Given the description of an element on the screen output the (x, y) to click on. 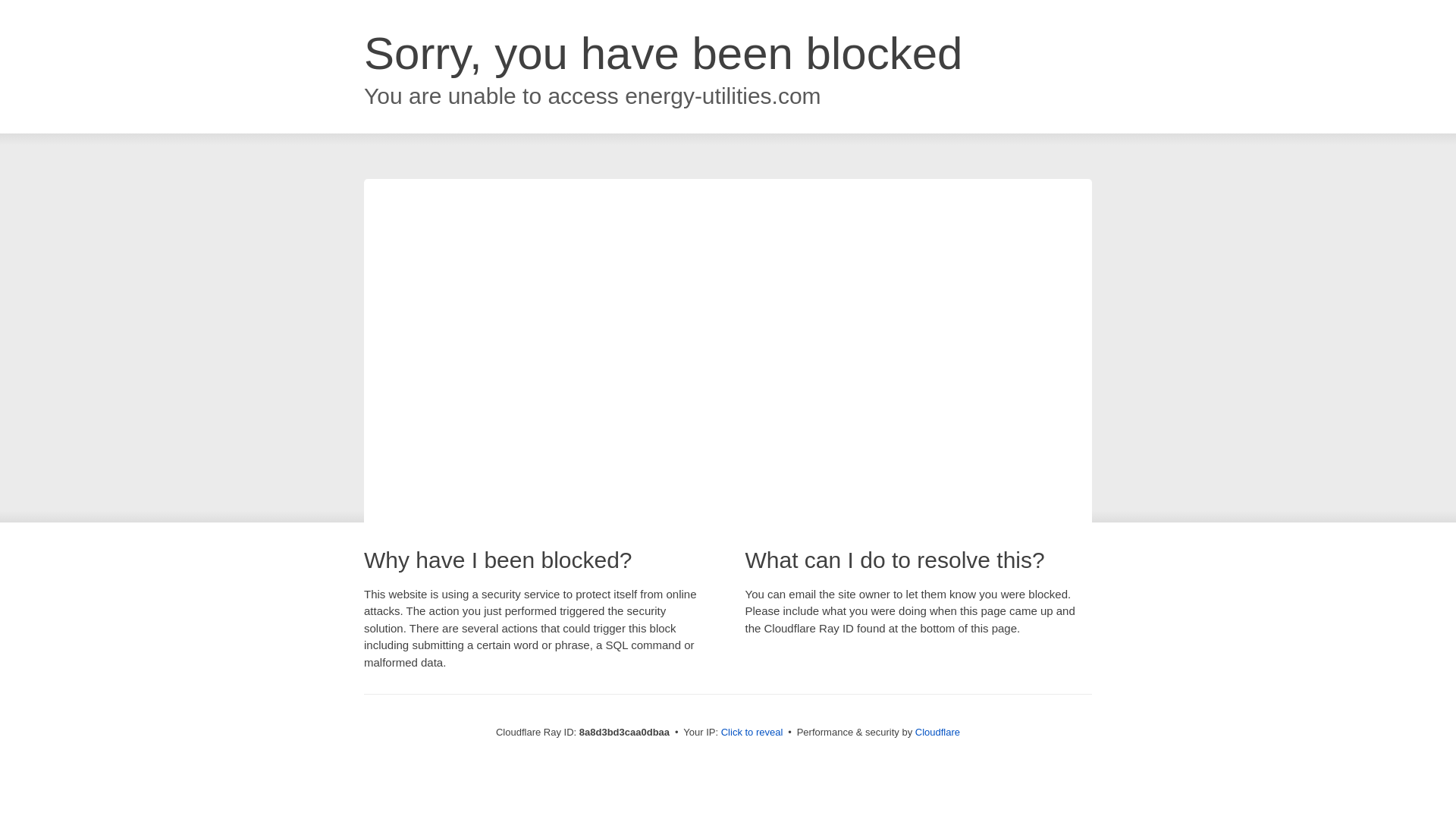
Cloudflare (937, 731)
Click to reveal (751, 732)
